Given the description of an element on the screen output the (x, y) to click on. 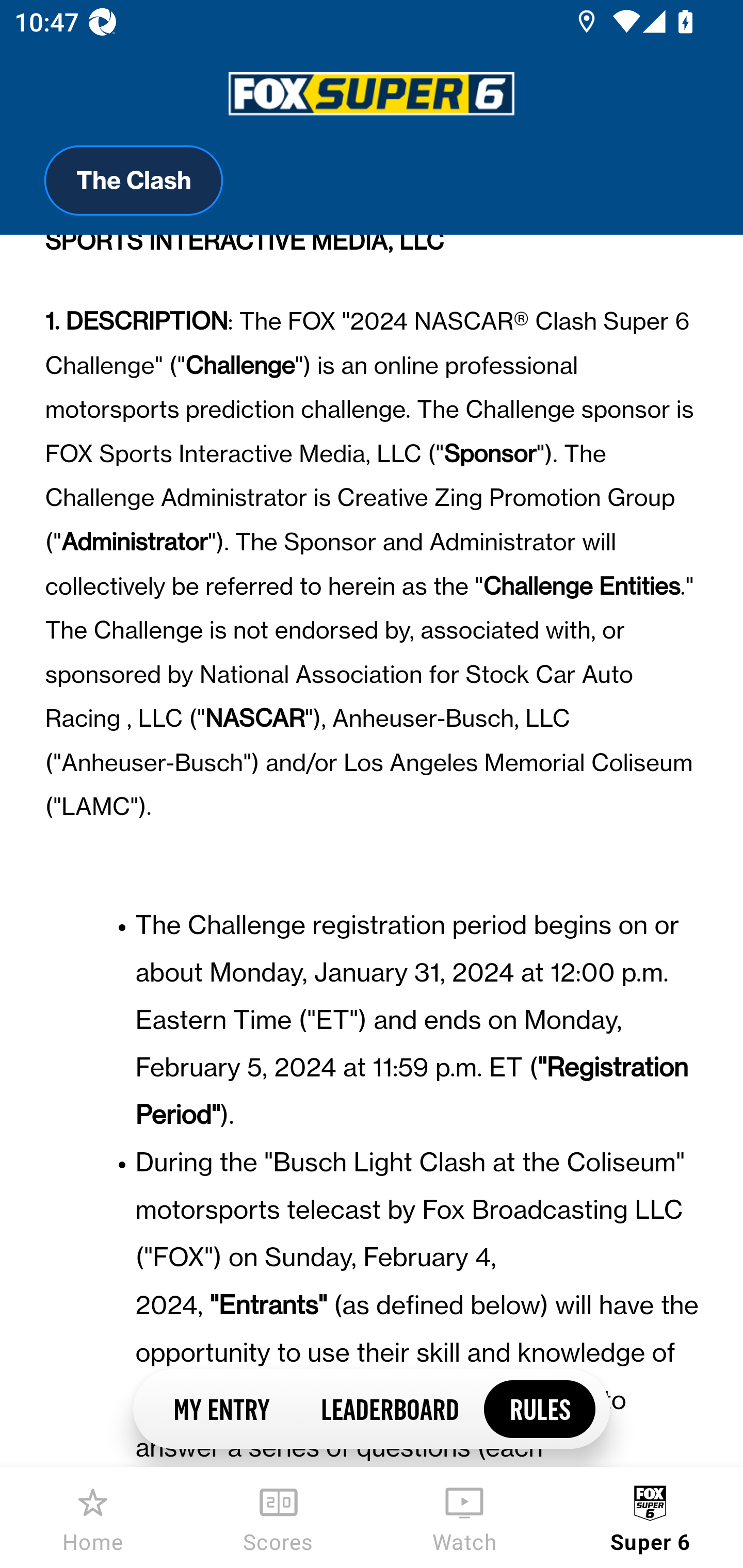
MY ENTRY (220, 1408)
LEADERBOARD (388, 1408)
Home (92, 1517)
Scores (278, 1517)
Watch (464, 1517)
